Given the description of an element on the screen output the (x, y) to click on. 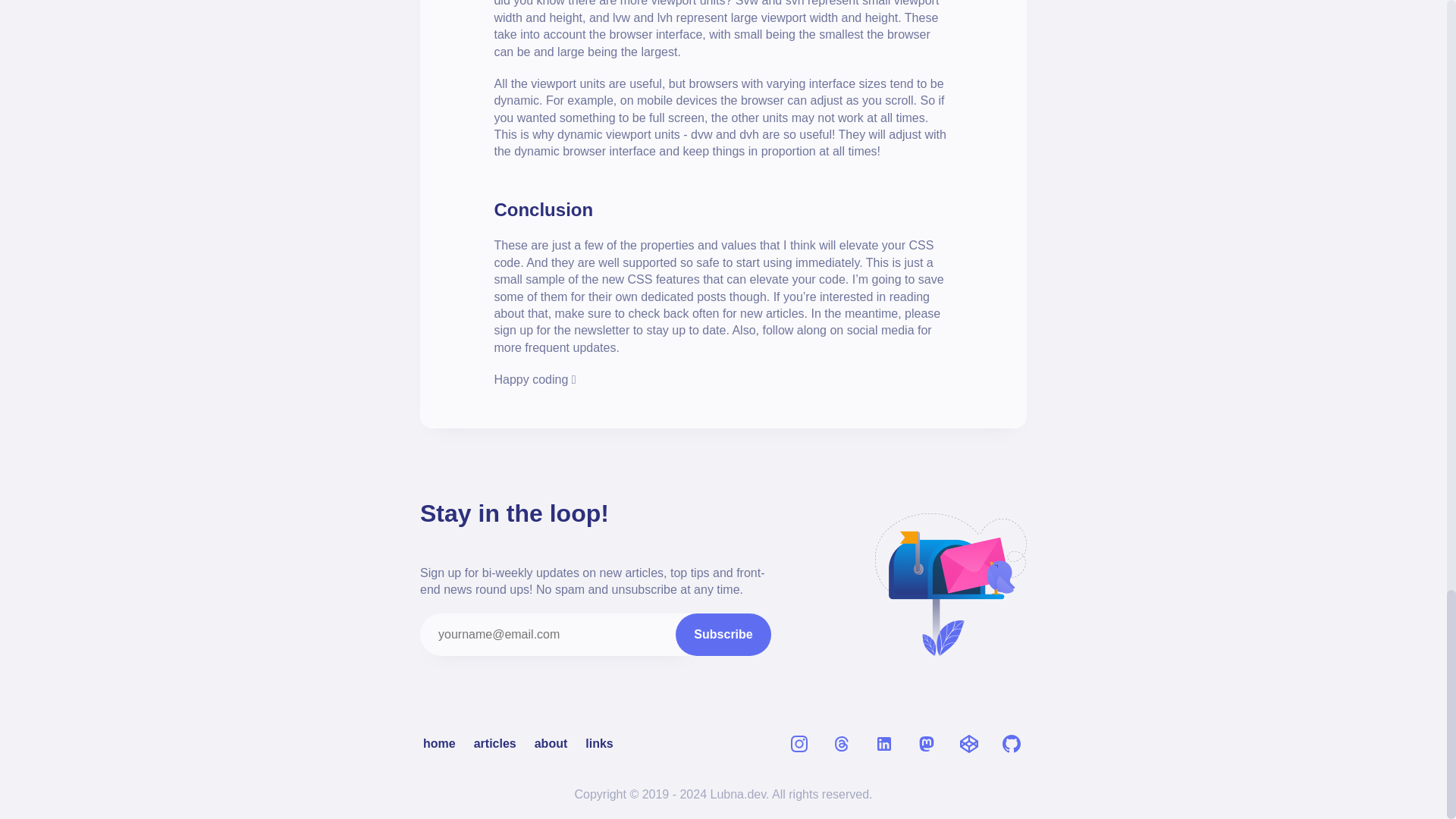
CodePen (968, 743)
articles (494, 743)
about (550, 743)
links (598, 743)
LinkedIn (884, 743)
GitHub (1010, 743)
Subscribe (722, 634)
Instagram (798, 743)
home (439, 743)
Threads (842, 743)
Mastodon (926, 743)
